Given the description of an element on the screen output the (x, y) to click on. 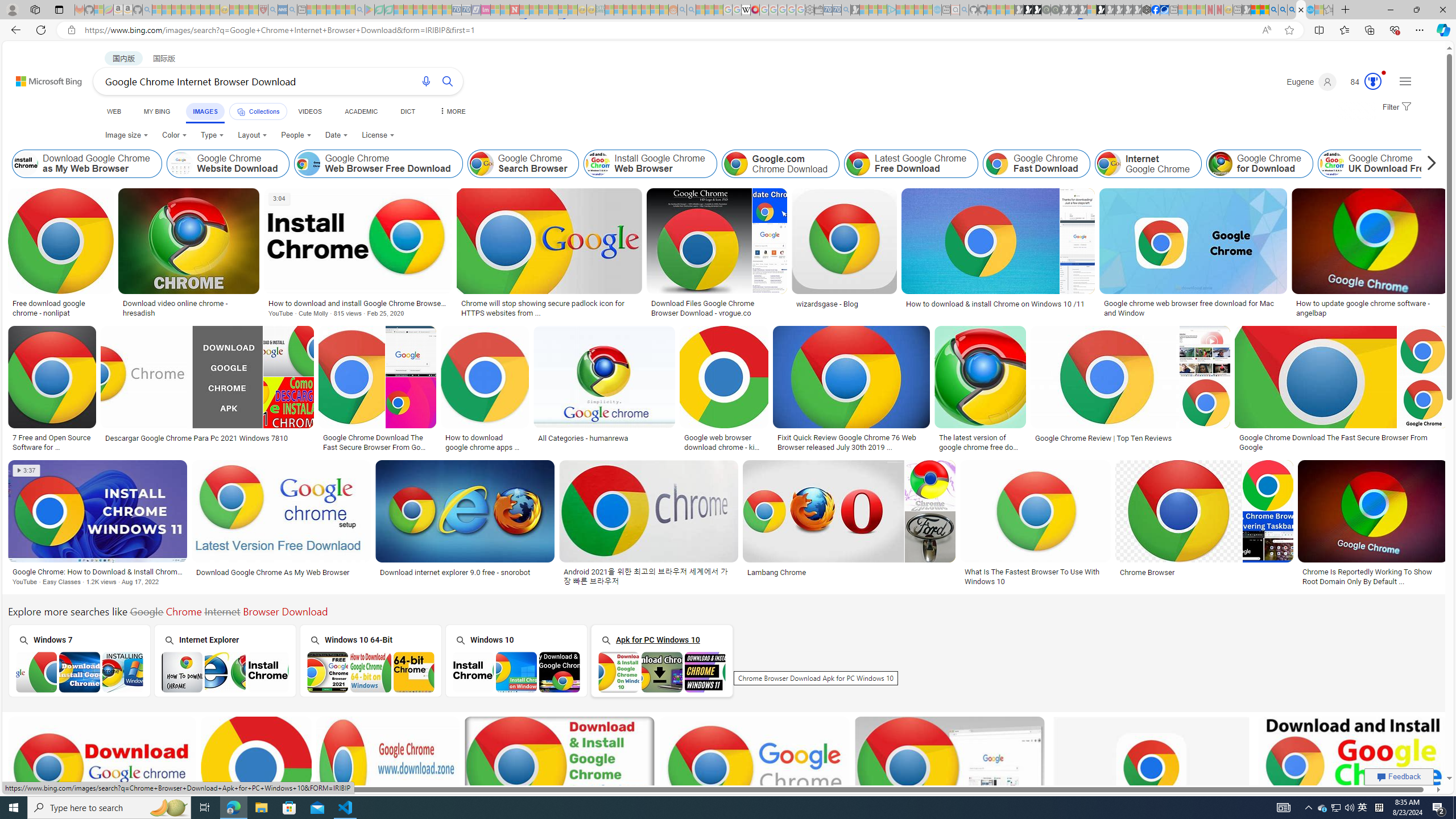
Windows 7 (78, 660)
Download internet explorer 9.0 free - snorobotSave (467, 524)
Internet Google Chrome (1147, 163)
